Given the description of an element on the screen output the (x, y) to click on. 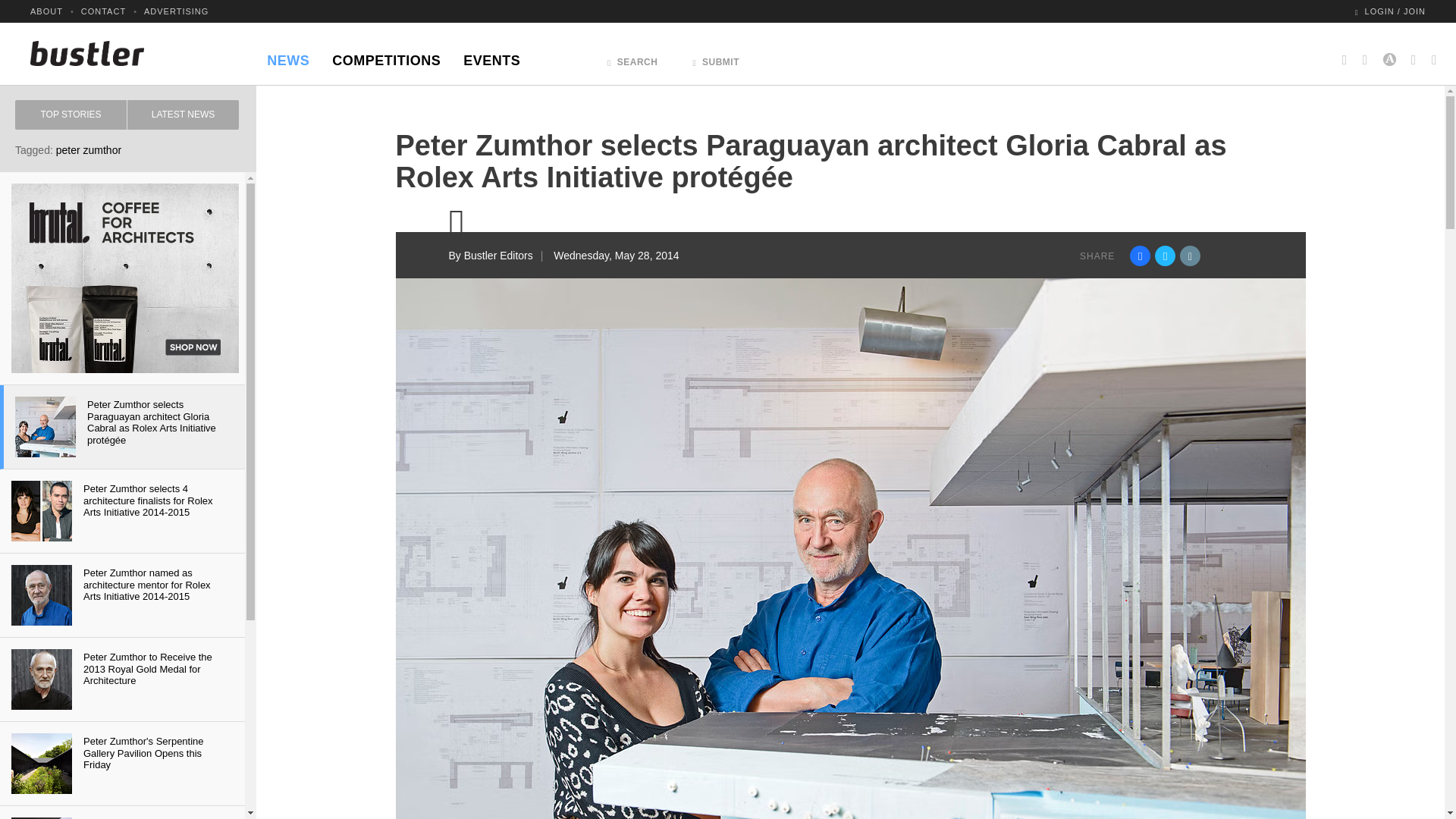
ABOUT (46, 10)
NEWS (288, 56)
SUBMIT (715, 57)
COMPETITIONS (385, 56)
CONTACT (103, 10)
EVENTS (491, 56)
Bustler is powered by Archinect (1389, 53)
ADVERTISING (176, 10)
SEARCH (632, 57)
